Given the description of an element on the screen output the (x, y) to click on. 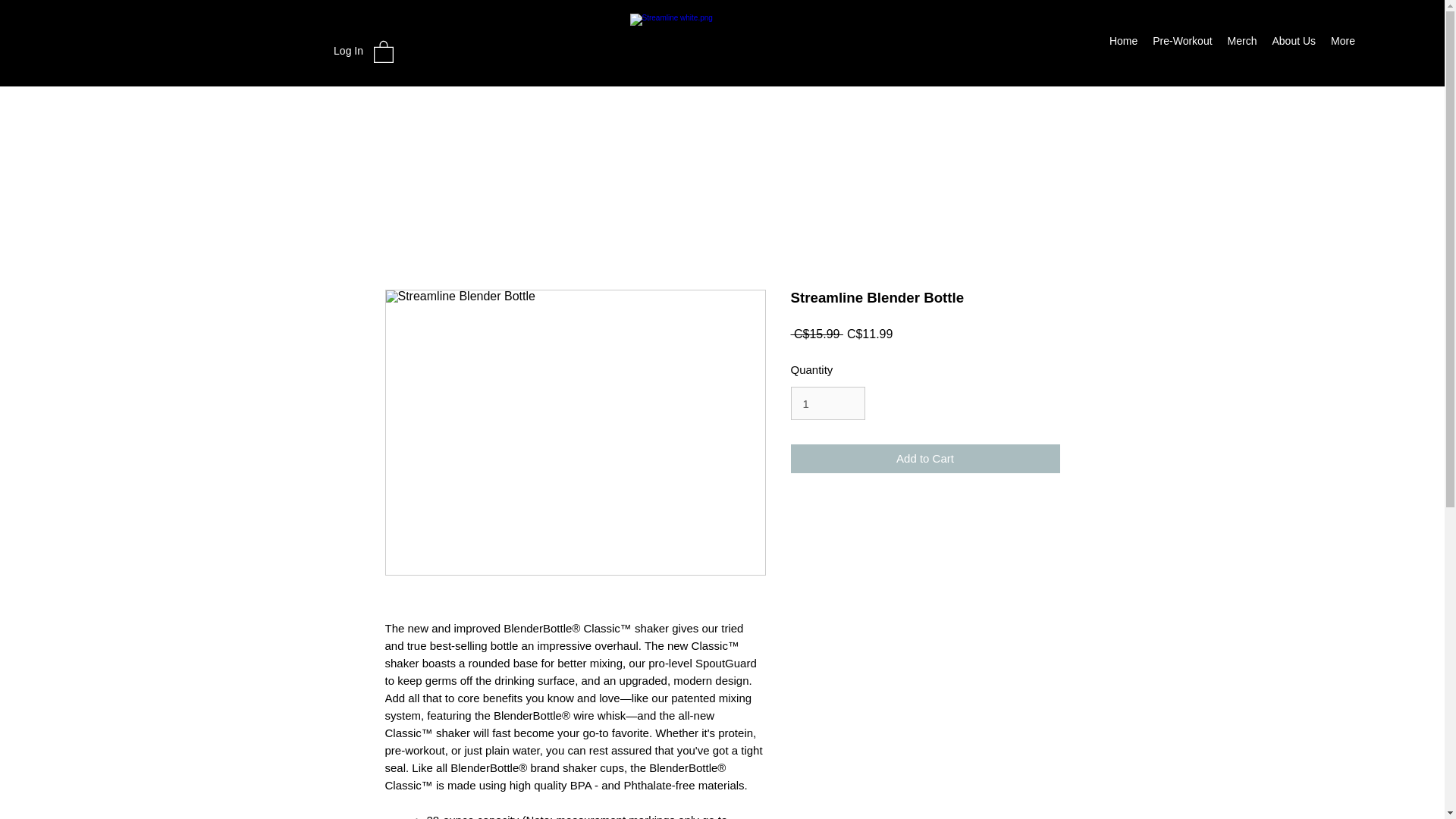
Home (1123, 42)
Log In (348, 50)
Add to Cart (924, 459)
Pre-Workout (1182, 42)
About Us (1294, 42)
1 (827, 403)
Merch (1242, 42)
